Given the description of an element on the screen output the (x, y) to click on. 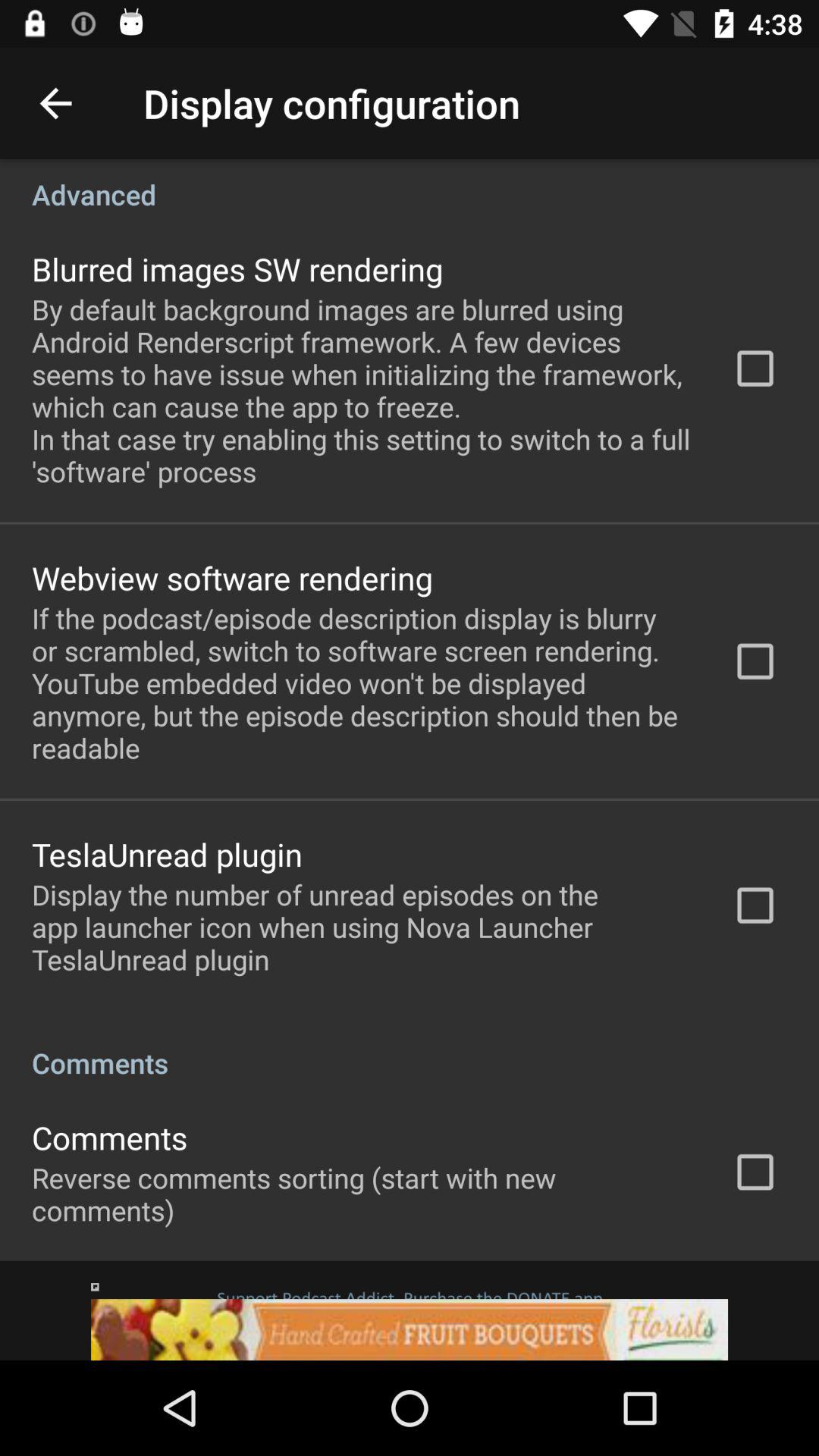
click on advertisement (409, 1310)
